Given the description of an element on the screen output the (x, y) to click on. 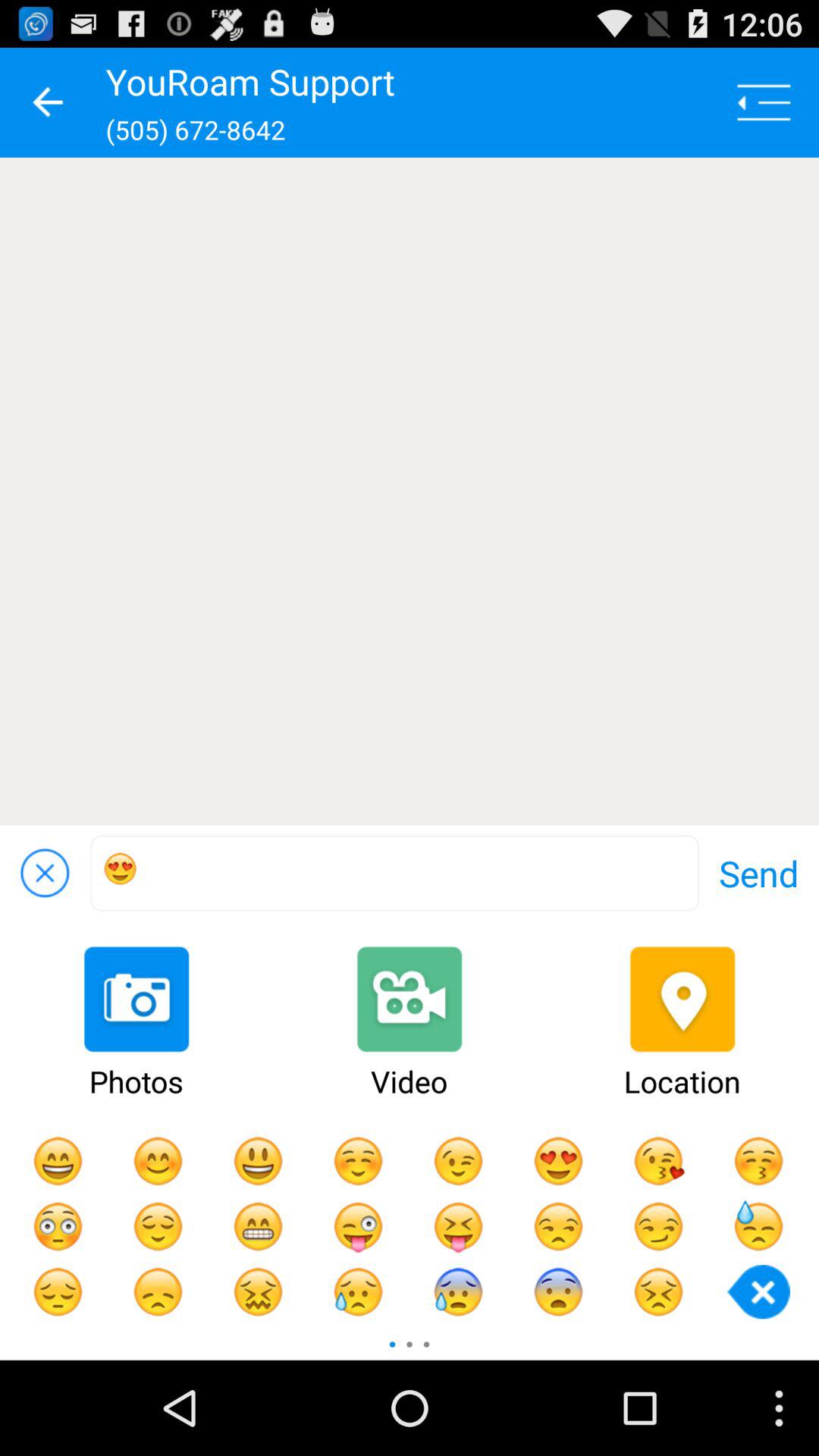
click e106 icon (394, 873)
